Given the description of an element on the screen output the (x, y) to click on. 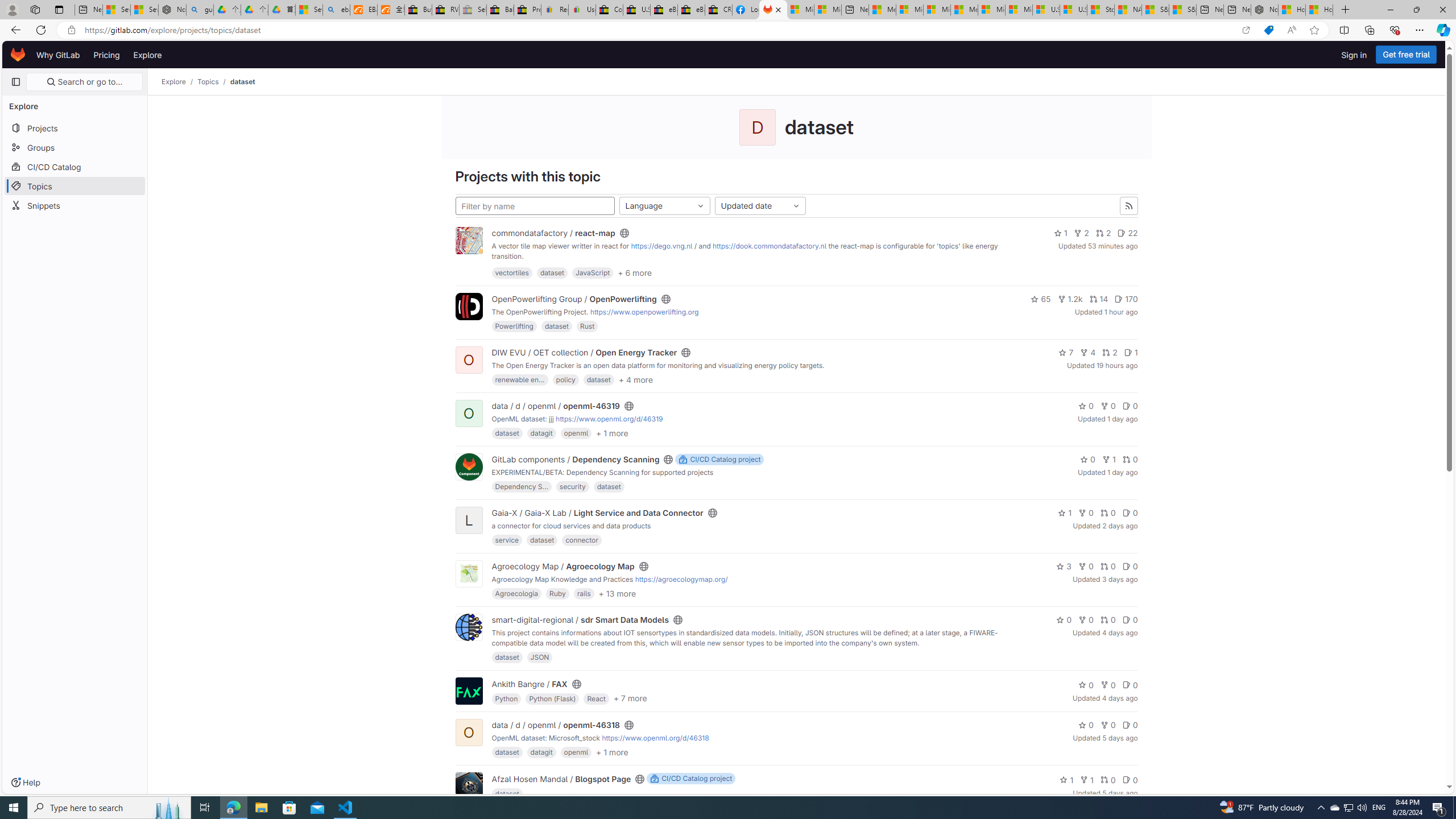
openml (575, 751)
JavaScript (592, 272)
Restore (1416, 9)
Minimize (1390, 9)
Address and search bar (658, 29)
L (468, 520)
+ 7 more (630, 697)
https://www.openml.org/d/46319 (609, 418)
rails (583, 592)
Help (25, 782)
14 (1098, 299)
Register: Create a personal eBay account (554, 9)
